Given the description of an element on the screen output the (x, y) to click on. 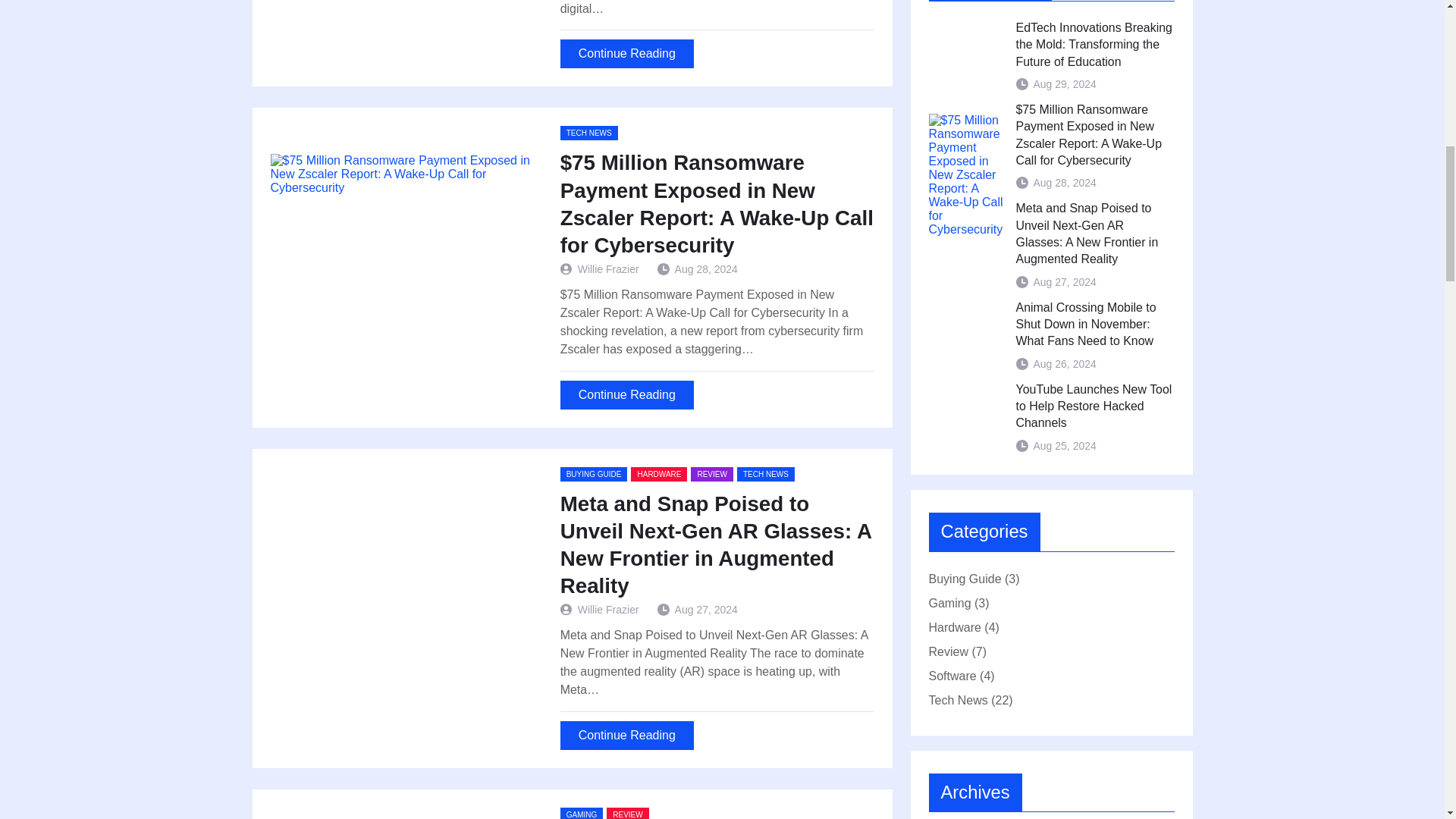
TECH NEWS (588, 133)
HARDWARE (658, 473)
REVIEW (711, 473)
BUYING GUIDE (593, 473)
GAMING (582, 813)
TECH NEWS (765, 473)
REVIEW (627, 813)
